Given the description of an element on the screen output the (x, y) to click on. 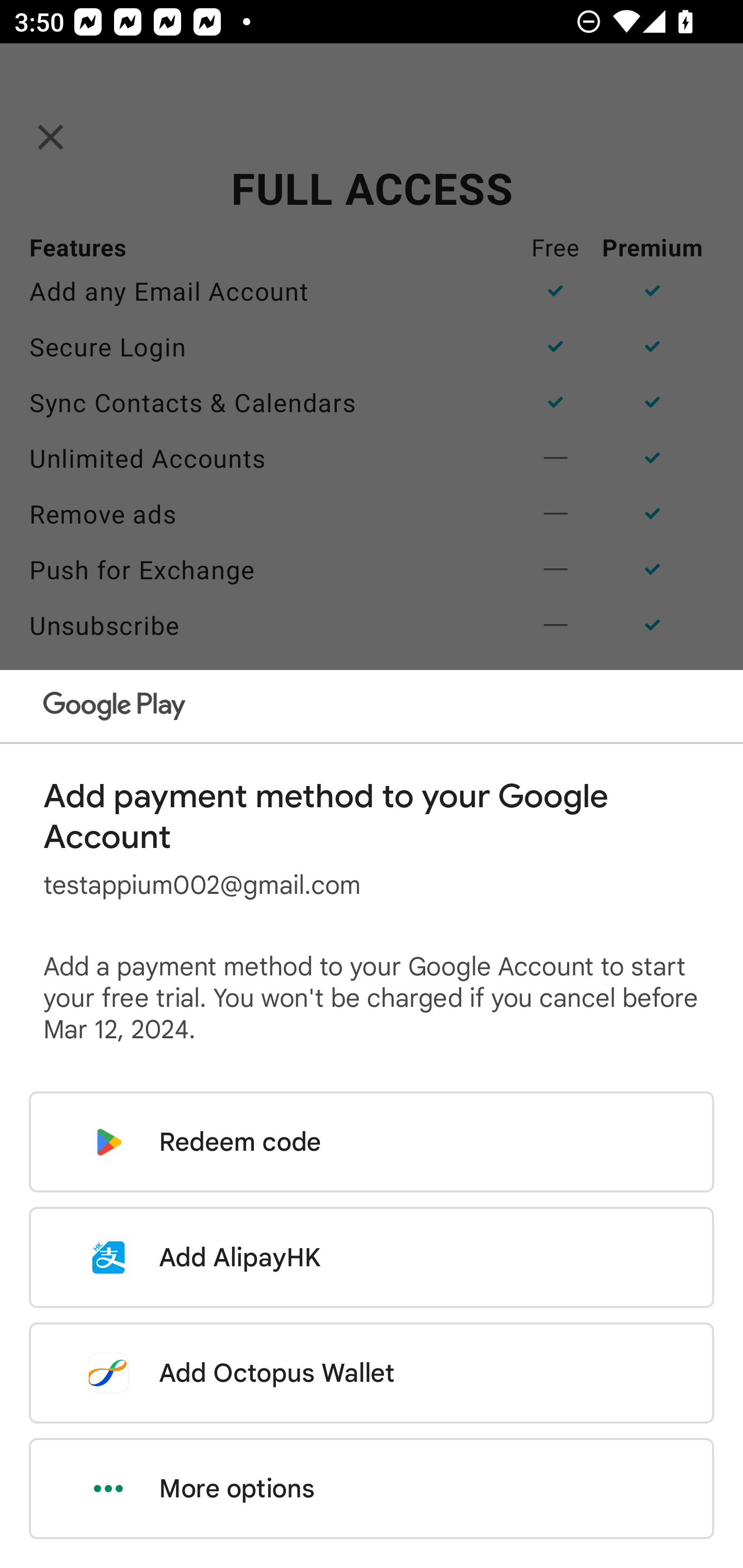
Redeem code (371, 1142)
Add AlipayHK (371, 1257)
Add Octopus Wallet (371, 1372)
More options (371, 1488)
